Given the description of an element on the screen output the (x, y) to click on. 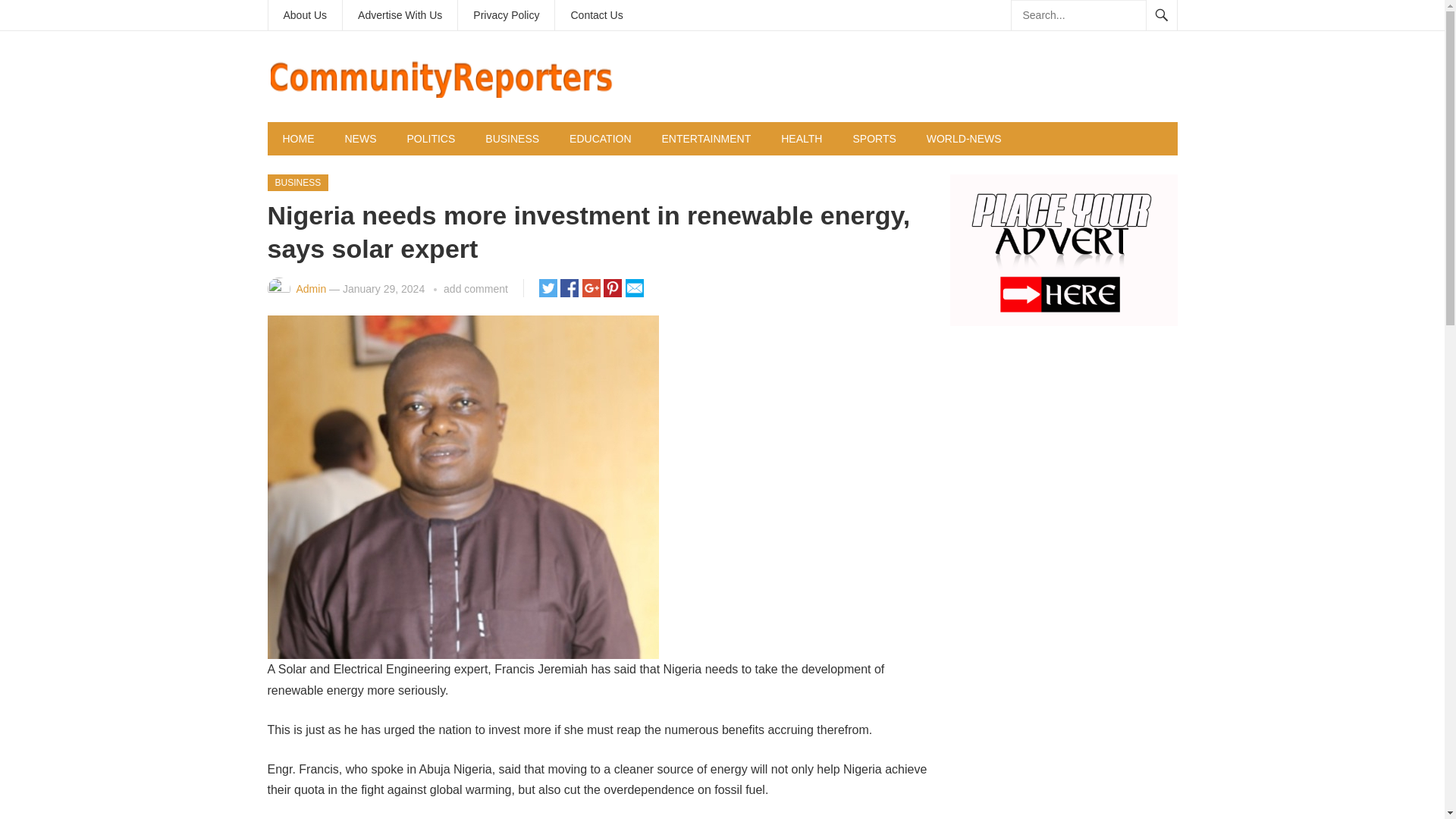
SPORTS (874, 138)
HOME (297, 138)
Posts by Admin (310, 288)
View all posts in Business (297, 182)
About Us (304, 15)
Privacy Policy (506, 15)
Contact Us (595, 15)
Admin (310, 288)
EDUCATION (600, 138)
Advertise With Us (399, 15)
